Given the description of an element on the screen output the (x, y) to click on. 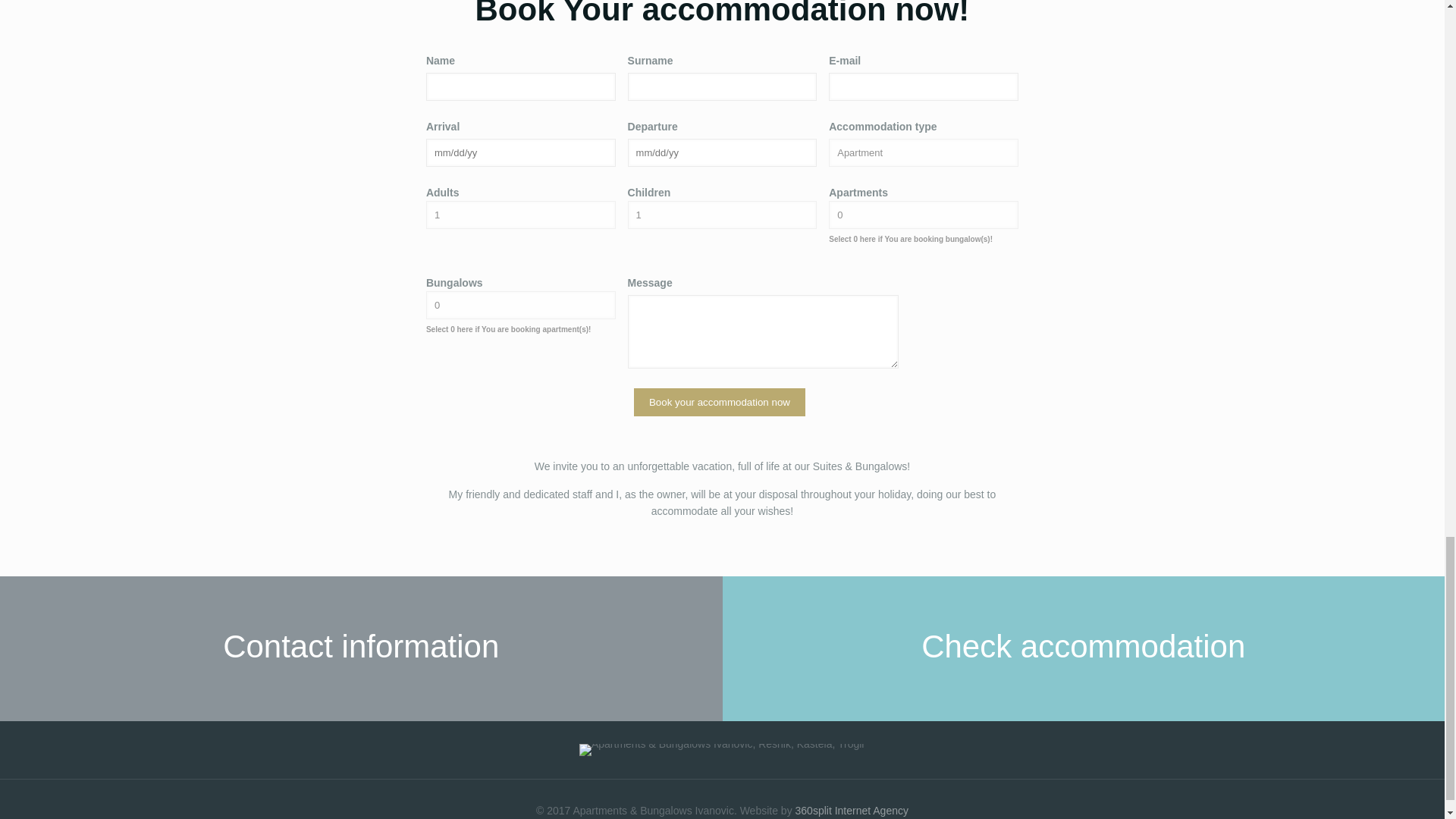
360split Internet Agency (851, 810)
Book your accommodation now (719, 402)
Contact information (360, 648)
Check accommodation (1082, 648)
Book your accommodation now (719, 402)
